Given the description of an element on the screen output the (x, y) to click on. 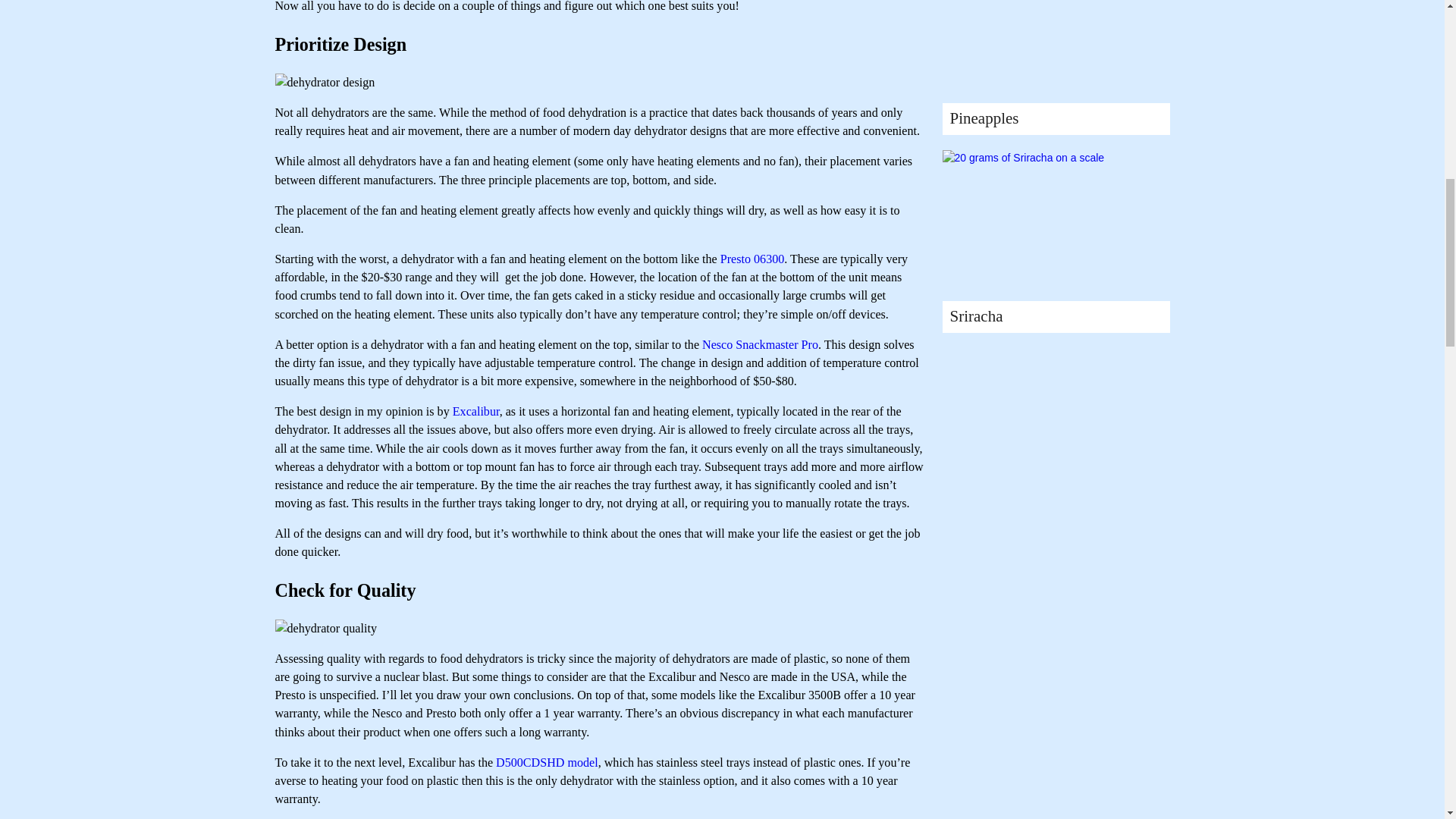
Nesco Snackmaster Pro (759, 344)
Pineapples (983, 117)
Presto 06300 (752, 258)
D500CDSHD model (547, 762)
Sriracha (976, 316)
Excalibur (475, 410)
